Given the description of an element on the screen output the (x, y) to click on. 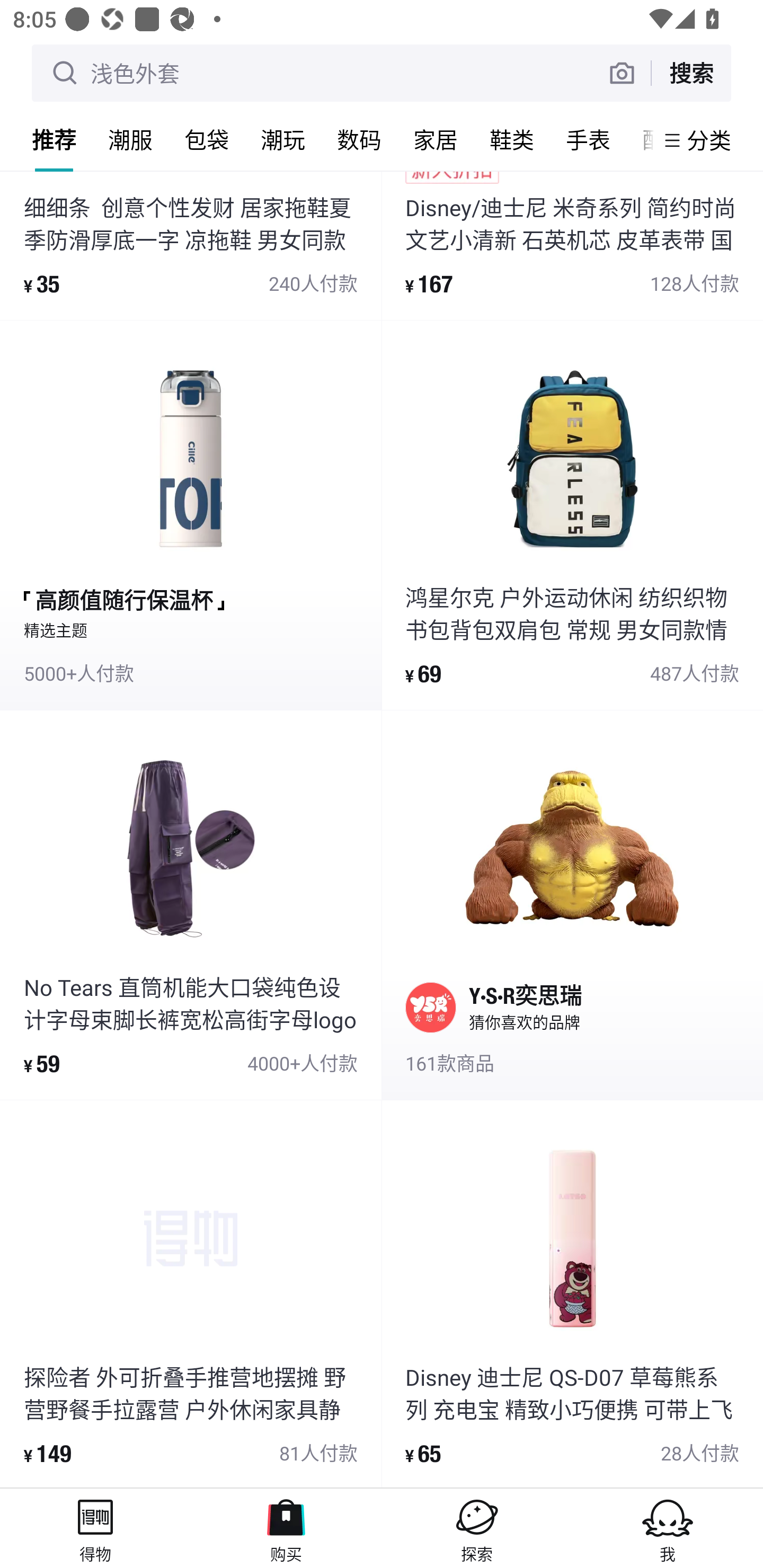
搜索 (690, 72)
推荐 (54, 139)
潮服 (130, 139)
包袋 (206, 139)
潮玩 (282, 139)
数码 (359, 139)
家居 (435, 139)
鞋类 (511, 139)
手表 (588, 139)
分类 (708, 139)
高颜值随行保温杯 精选主题 5000+人付款 (190, 514)
Y·S·R奕思瑞 猜你喜欢的品牌 161款商品 (572, 904)
得物 (95, 1528)
购买 (285, 1528)
探索 (476, 1528)
我 (667, 1528)
